Given the description of an element on the screen output the (x, y) to click on. 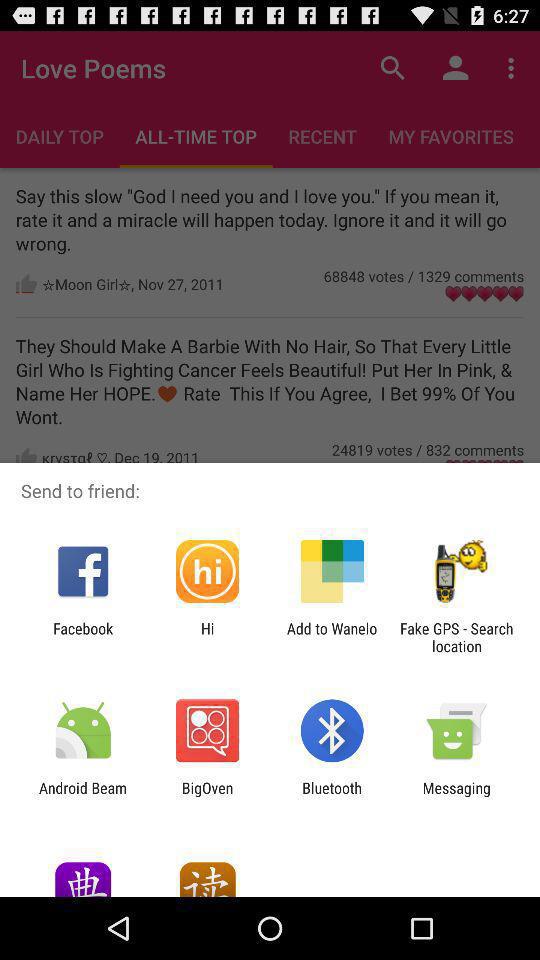
turn on app to the left of the messaging icon (331, 796)
